Given the description of an element on the screen output the (x, y) to click on. 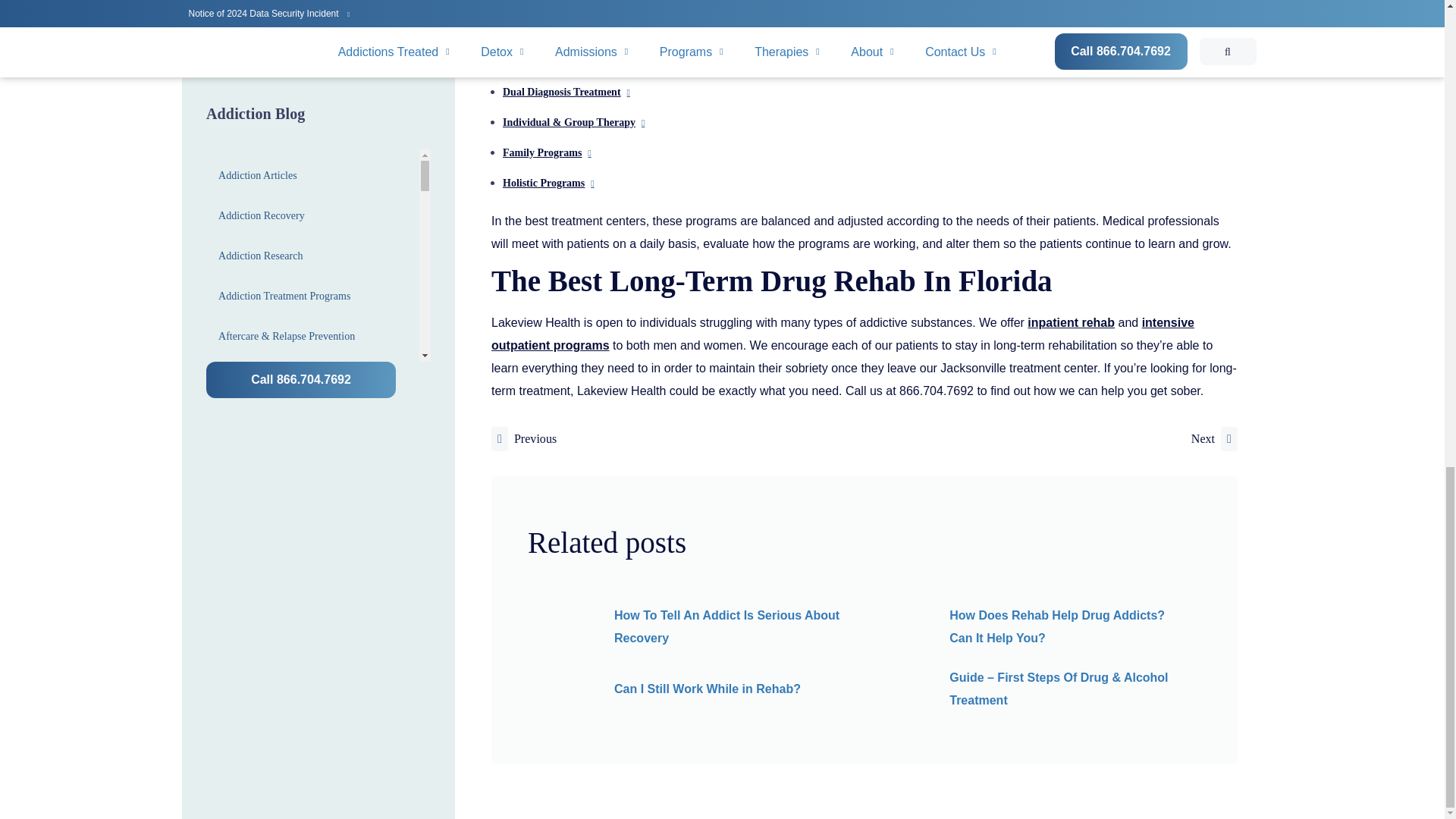
How To Tell An Addict Is Serious About Recovery (727, 626)
Can I Still Work While in Rehab? (707, 688)
How Does Rehab Help Drug Addicts? Can It Help You? (1056, 626)
